Given the description of an element on the screen output the (x, y) to click on. 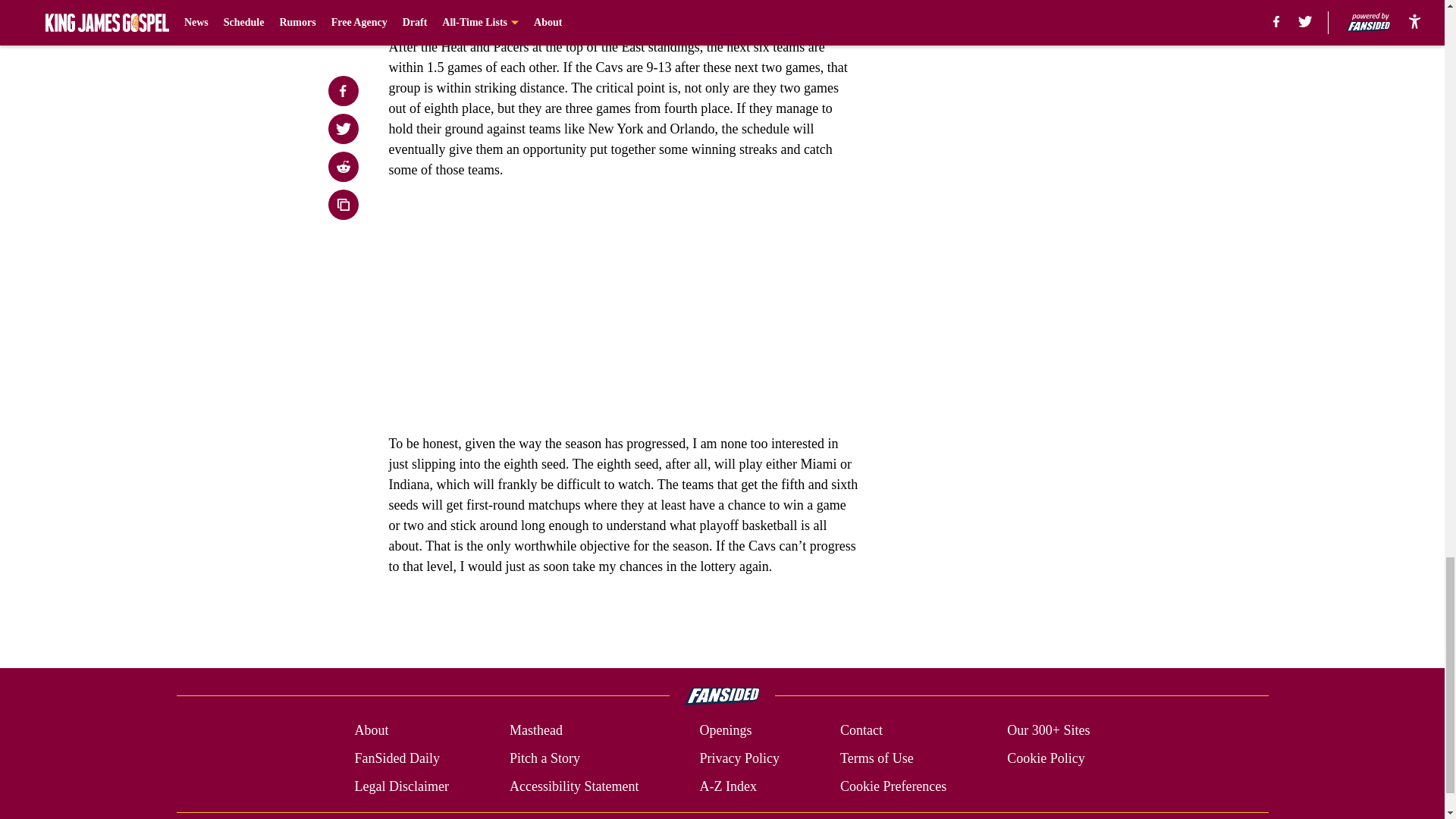
Masthead (535, 730)
Cookie Preferences (893, 786)
About (370, 730)
A-Z Index (726, 786)
Pitch a Story (544, 758)
Cookie Policy (1045, 758)
FanSided Daily (396, 758)
Contact (861, 730)
Accessibility Statement (574, 786)
Openings (724, 730)
